Given the description of an element on the screen output the (x, y) to click on. 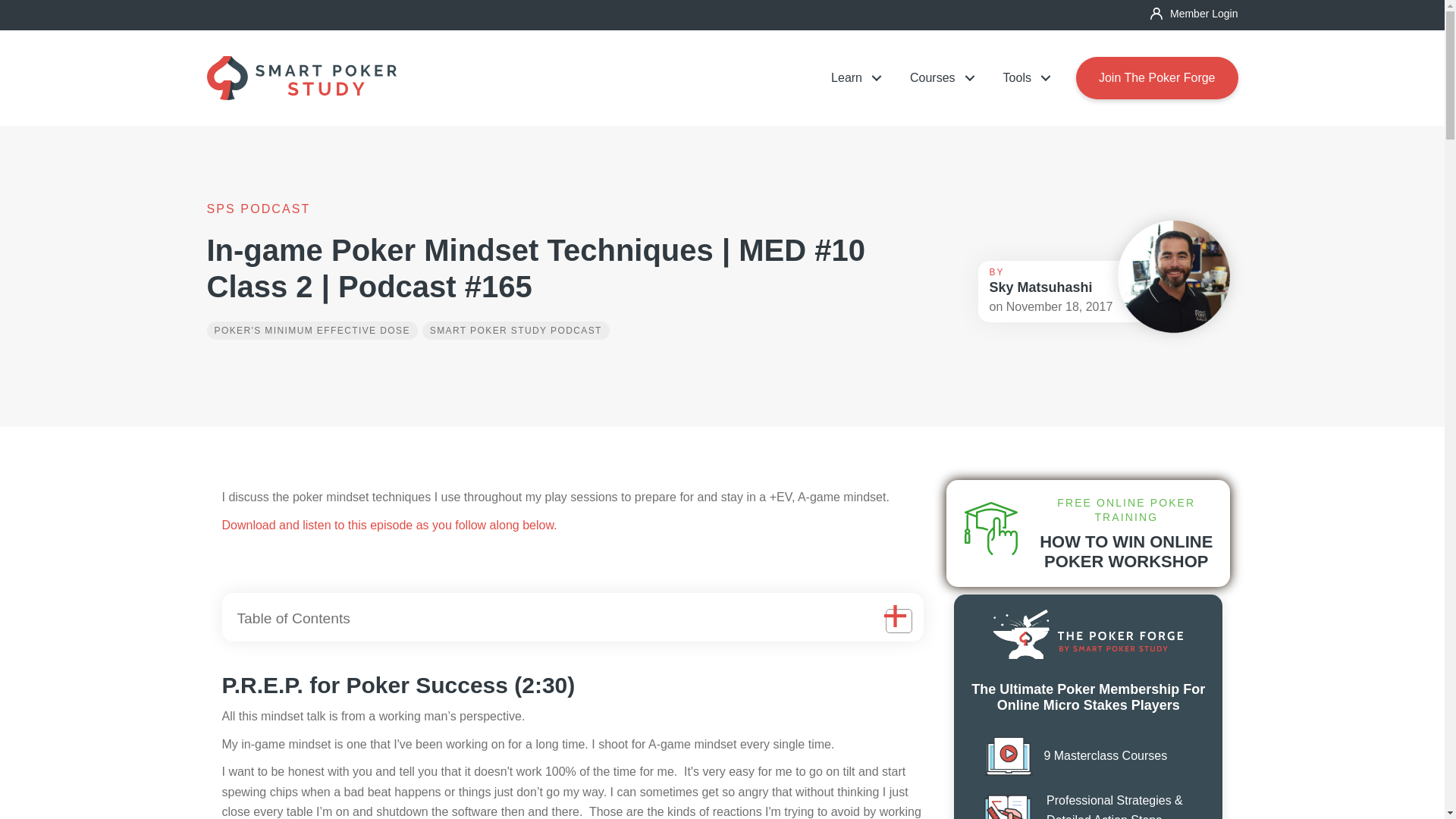
Tools (1022, 78)
SPS-Logo (301, 77)
Learn (851, 78)
Member Login (1194, 13)
POKER'S MINIMUM EFFECTIVE DOSE (311, 330)
SMART POKER STUDY PODCAST (516, 330)
Courses (937, 78)
Join The Poker Forge (1157, 77)
